Given the description of an element on the screen output the (x, y) to click on. 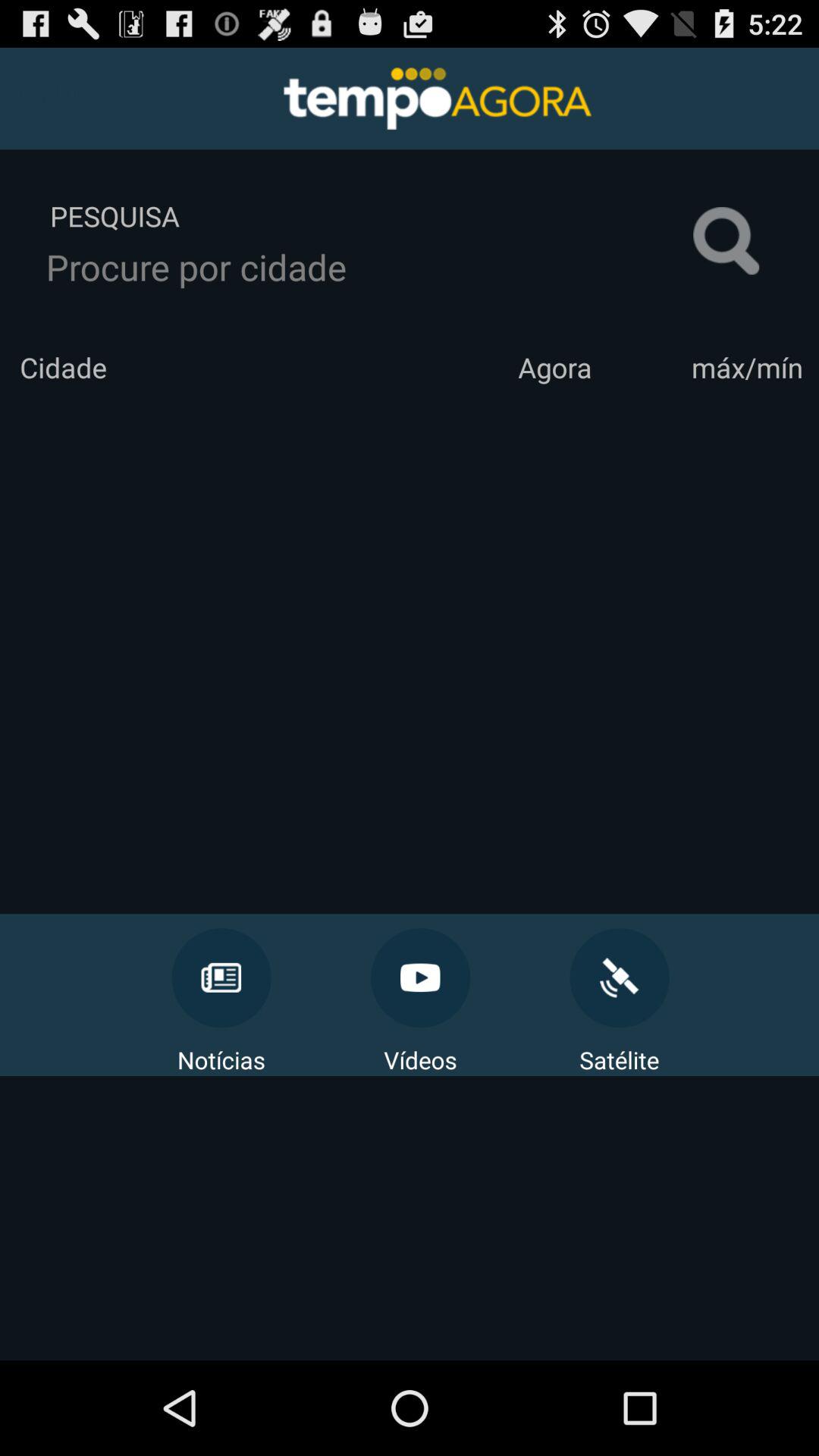
tap item to the right of pesquisa (726, 240)
